Given the description of an element on the screen output the (x, y) to click on. 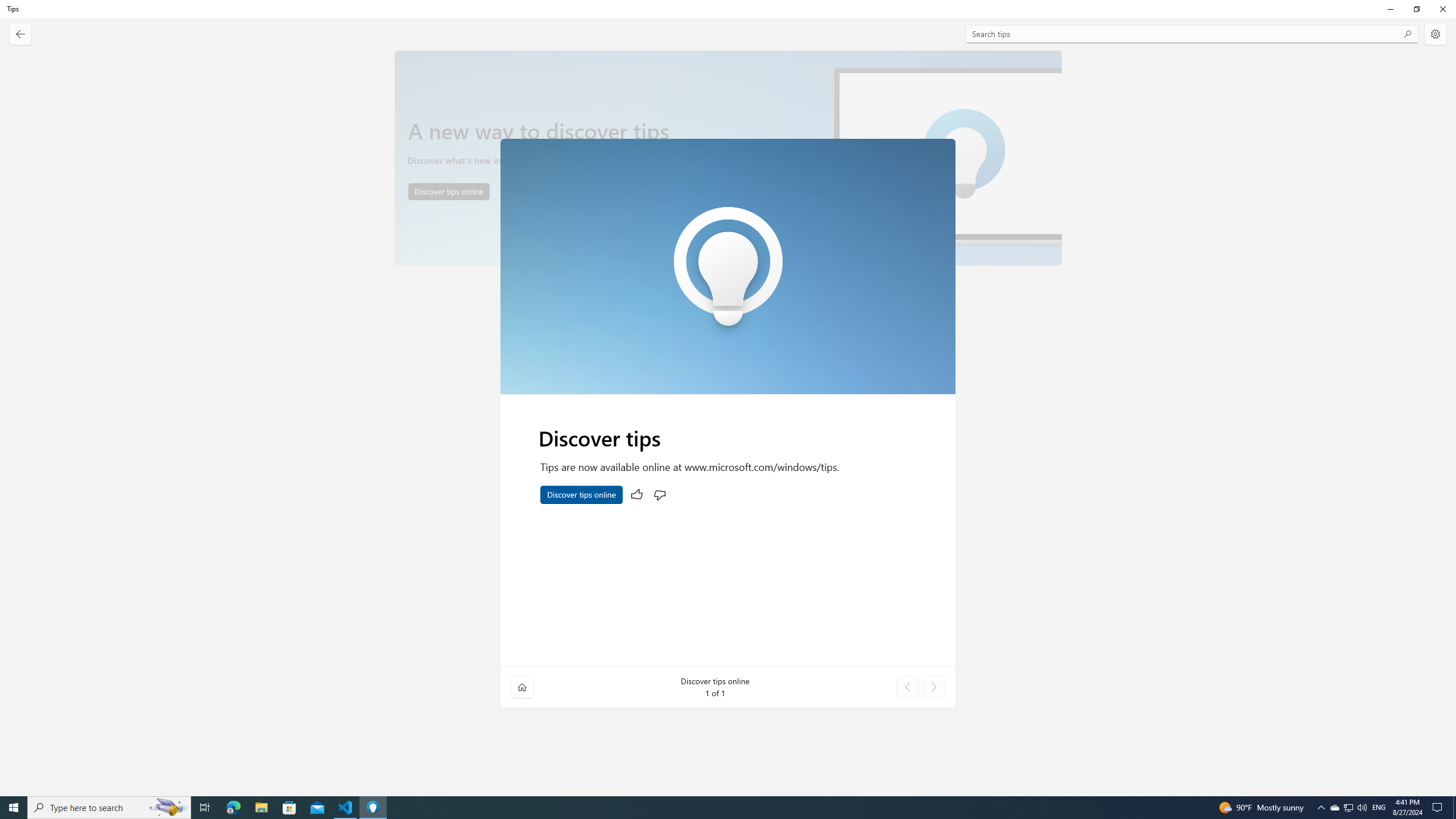
Previous tip (907, 686)
